Given the description of an element on the screen output the (x, y) to click on. 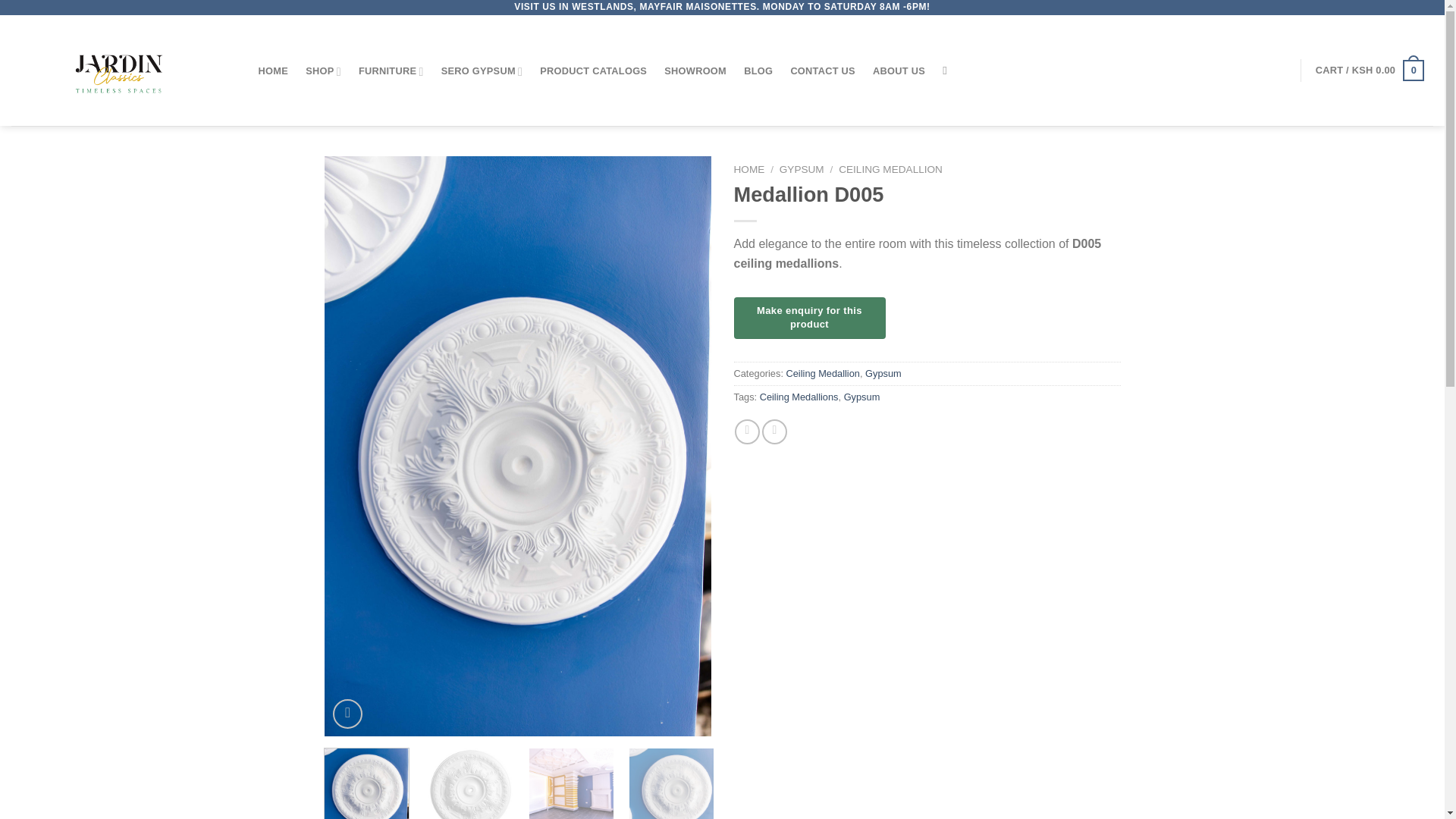
Gypsum (882, 373)
Make enquiry for this product (809, 318)
Zoom (347, 713)
Ceiling Medallions (799, 396)
PRODUCT CATALOGS (593, 70)
BLOG (758, 70)
Email to a Friend (774, 431)
HOME (749, 169)
Ceiling Medallion (822, 373)
SHOWROOM (695, 70)
